Given the description of an element on the screen output the (x, y) to click on. 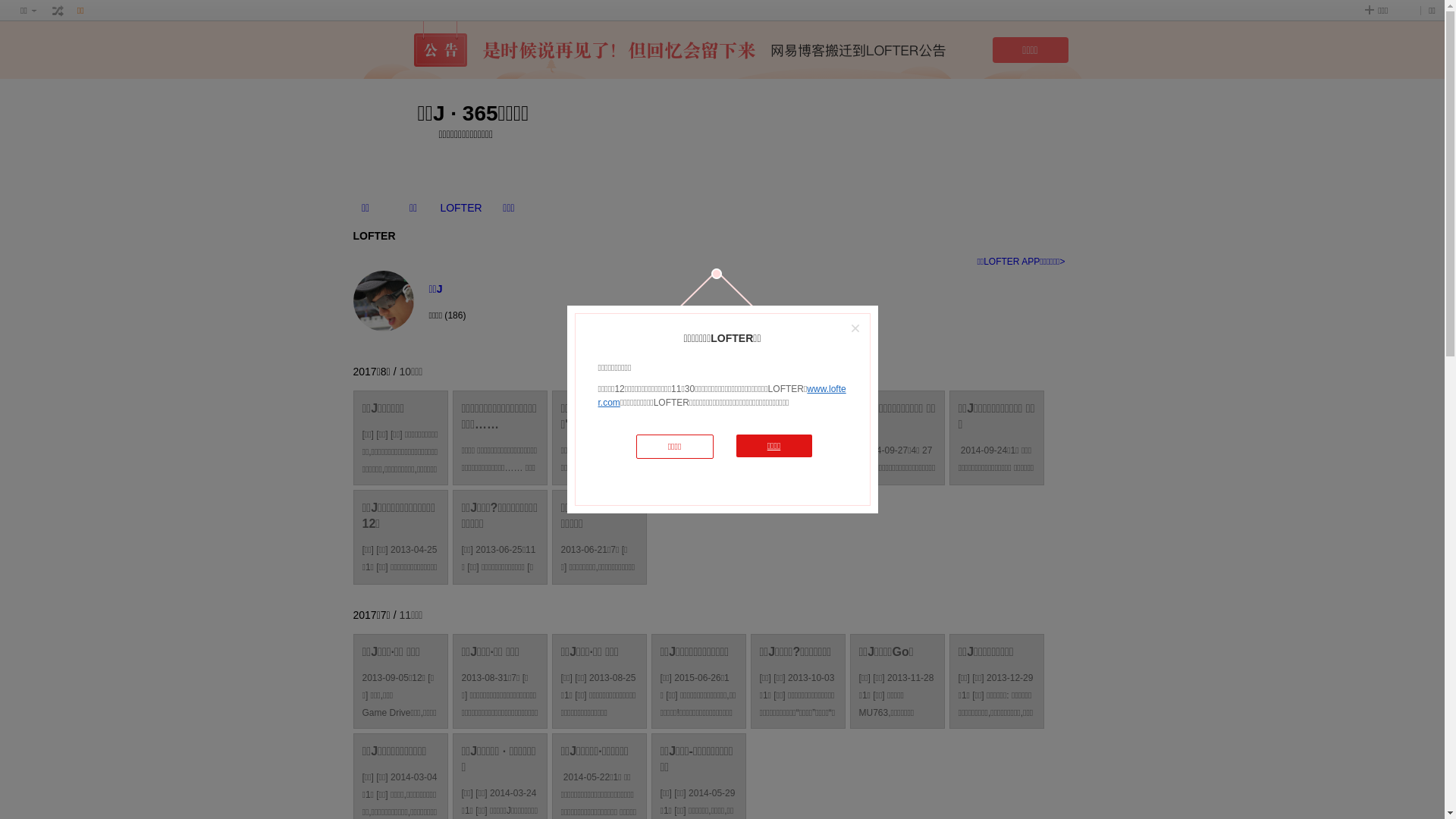
www.lofter.com Element type: text (721, 395)
  Element type: text (58, 10)
LOFTER Element type: text (460, 207)
